Given the description of an element on the screen output the (x, y) to click on. 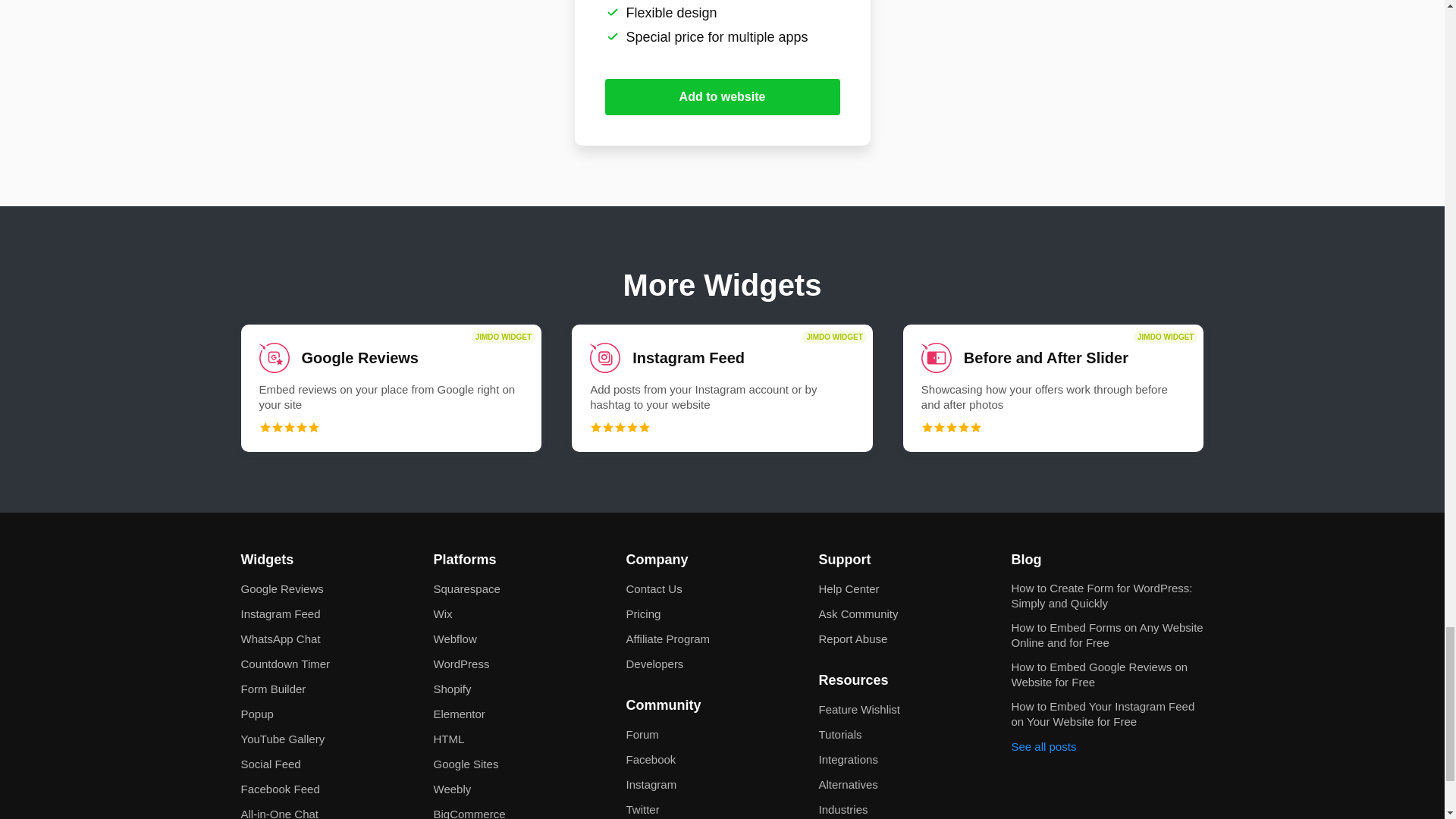
Before and After Slider (1053, 388)
Instagram Feed (722, 388)
Google Reviews (391, 388)
